Given the description of an element on the screen output the (x, y) to click on. 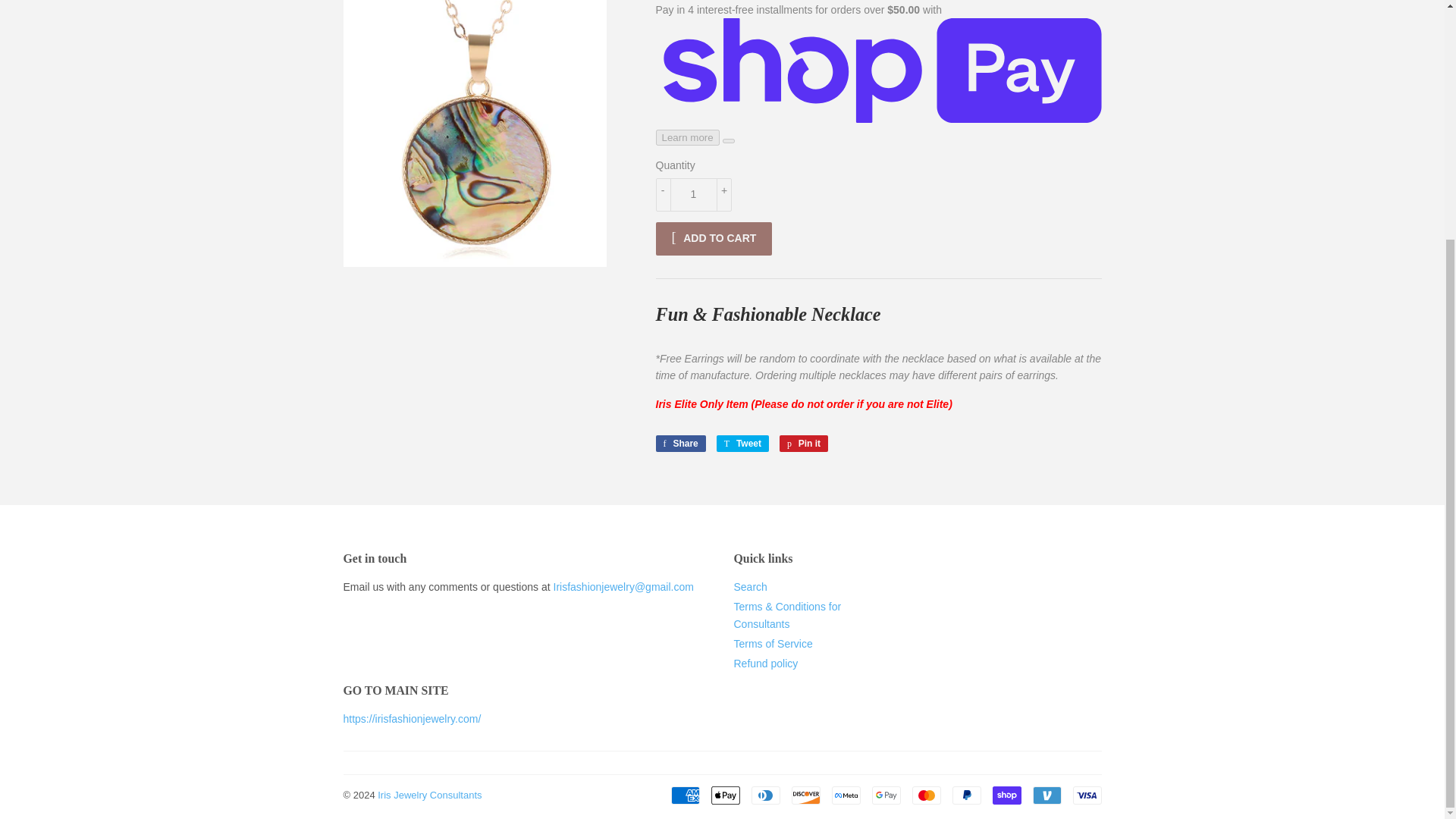
Apple Pay (725, 795)
Discover (806, 795)
1 (692, 194)
Meta Pay (845, 795)
Share on Facebook (679, 443)
Visa (1085, 795)
Venmo (1046, 795)
Google Pay (886, 795)
Terms of Service (772, 644)
Shop Pay (1005, 795)
Tweet on Twitter (742, 443)
Pin on Pinterest (679, 443)
PayPal (742, 443)
